Given the description of an element on the screen output the (x, y) to click on. 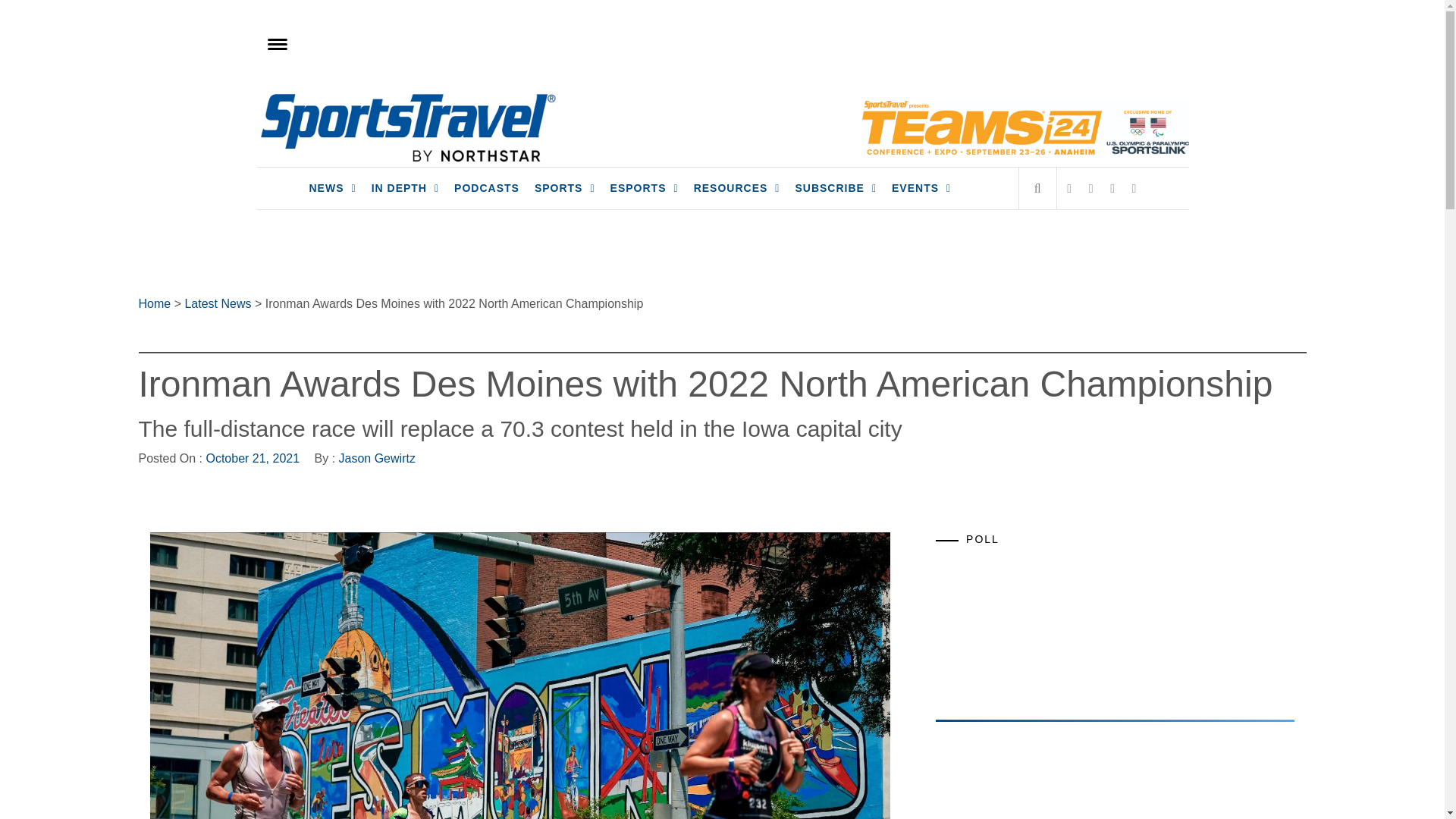
SportsTravel (354, 108)
SPORTS (564, 188)
IN DEPTH (405, 188)
NEWS (332, 188)
ESPORTS (643, 188)
Interaction questions (1115, 626)
PODCASTS (486, 188)
RESOURCES (736, 188)
